Given the description of an element on the screen output the (x, y) to click on. 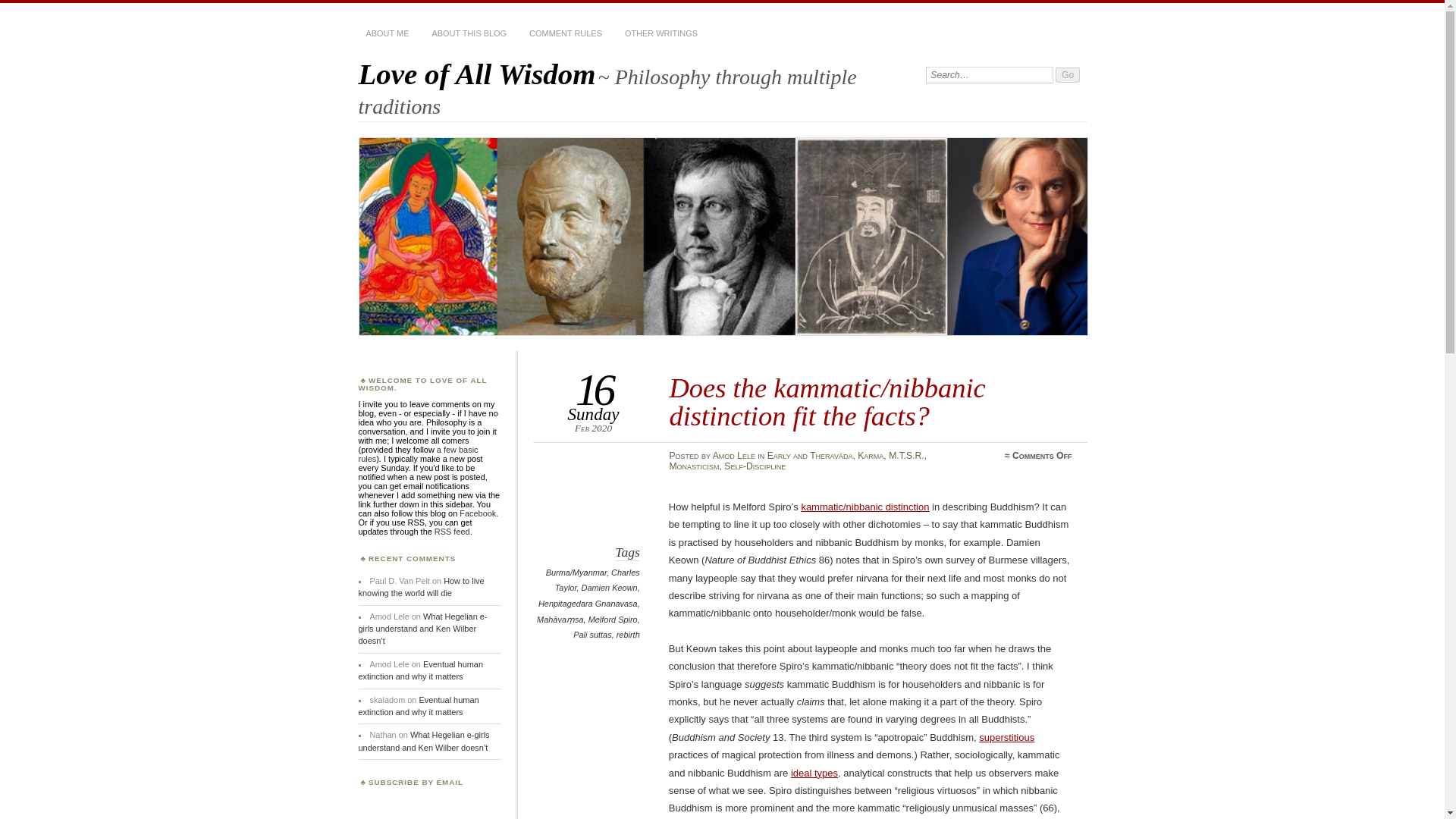
superstitious (1005, 737)
ABOUT THIS BLOG (468, 33)
Eventual human extinction and why it matters (418, 705)
RSS feed (451, 531)
rebirth (627, 634)
Love of All Wisdom (476, 73)
ideal types (814, 772)
Karma (870, 455)
Go (1067, 74)
COMMENT RULES (565, 33)
